Given the description of an element on the screen output the (x, y) to click on. 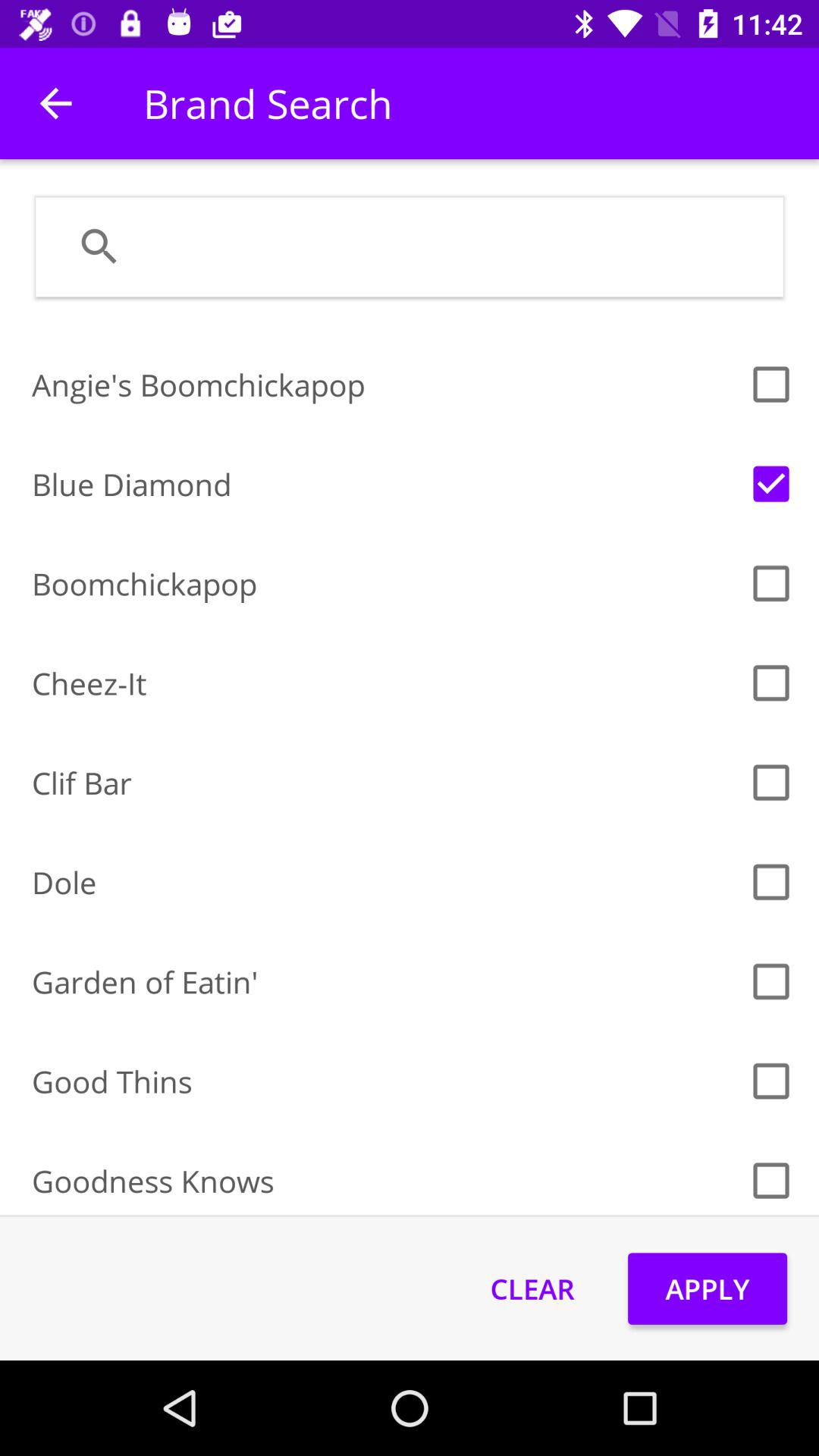
tap the angie's boomchickapop (385, 384)
